Given the description of an element on the screen output the (x, y) to click on. 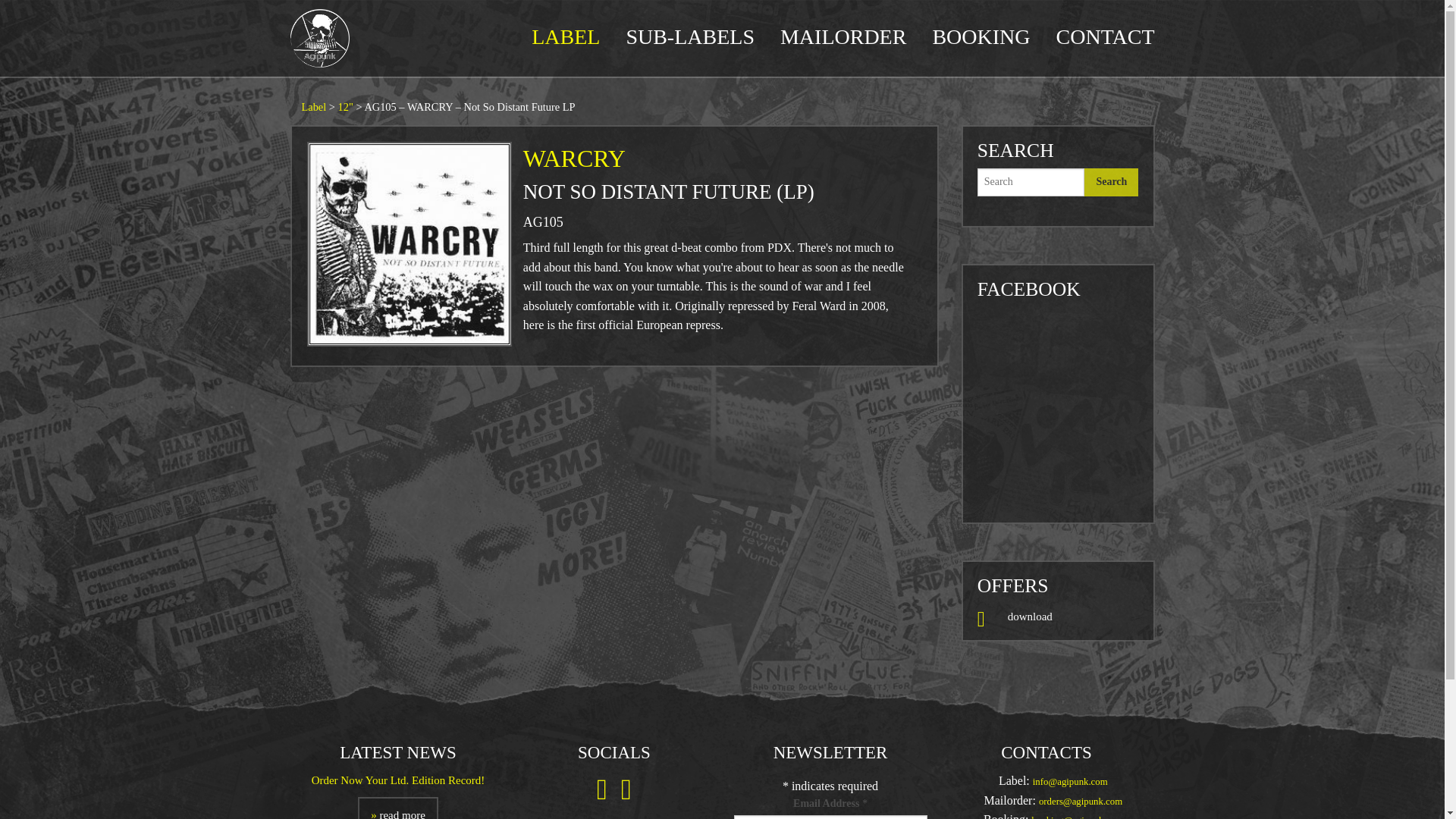
CONTACT (1105, 36)
Label (313, 107)
Search (1111, 182)
LABEL (565, 36)
Search (1111, 182)
MAILORDER (842, 36)
BOOKING (980, 36)
SUB-LABELS (690, 36)
